Given the description of an element on the screen output the (x, y) to click on. 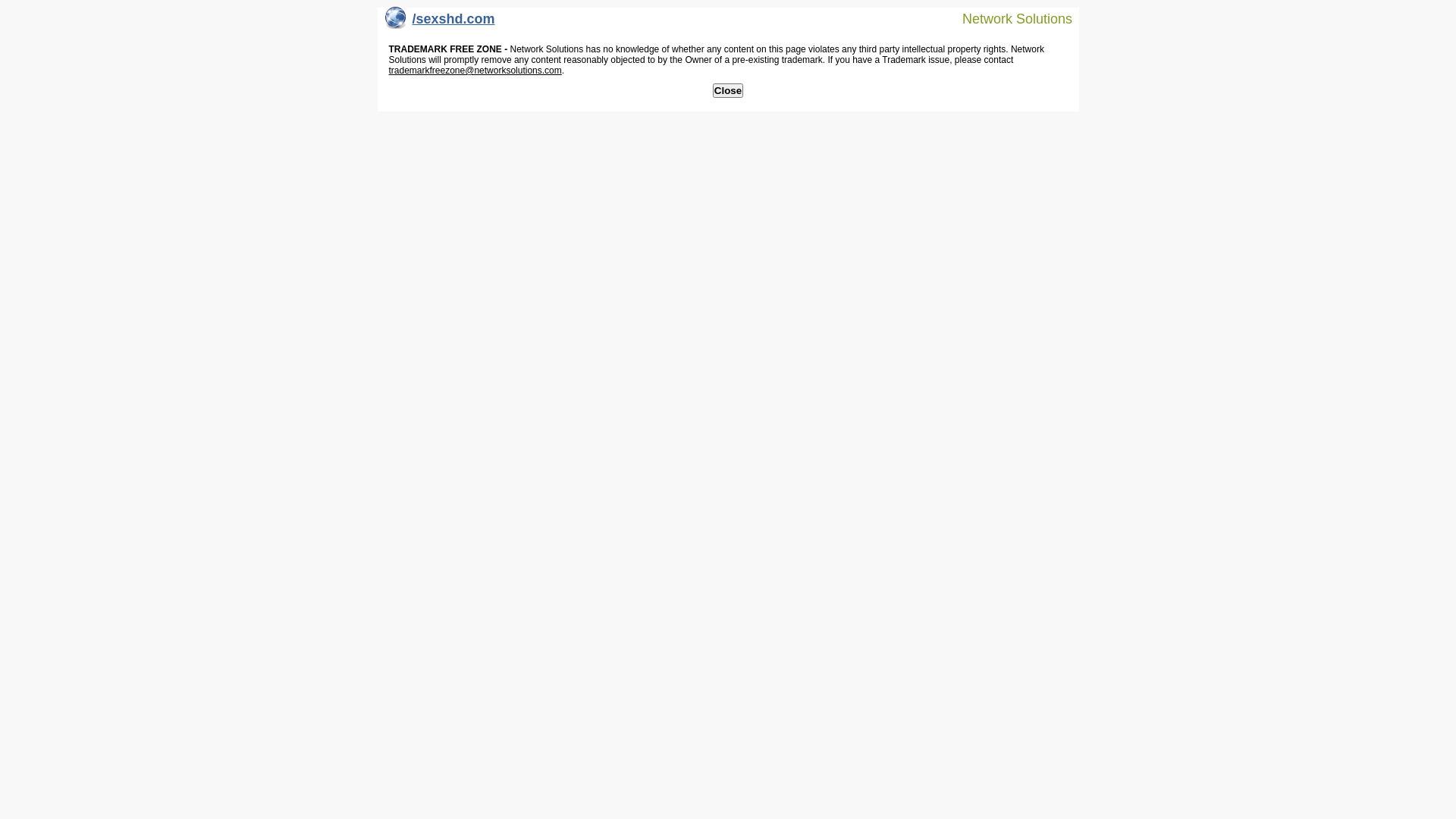
/sexshd.com Element type: text (440, 21)
Close Element type: text (727, 90)
Network Solutions Element type: text (1007, 17)
trademarkfreezone@networksolutions.com Element type: text (474, 70)
